Given the description of an element on the screen output the (x, y) to click on. 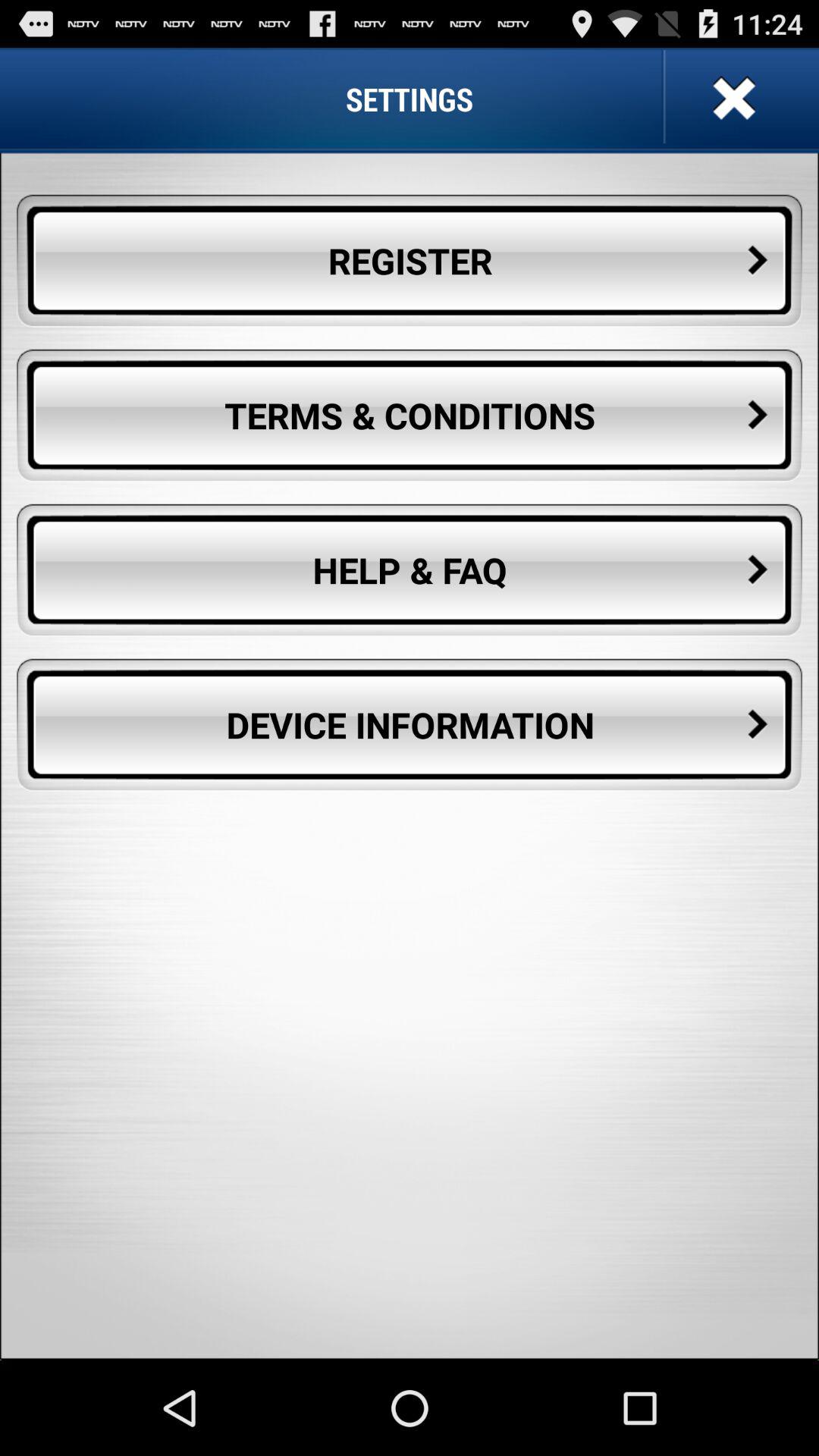
choose the terms & conditions (409, 415)
